Given the description of an element on the screen output the (x, y) to click on. 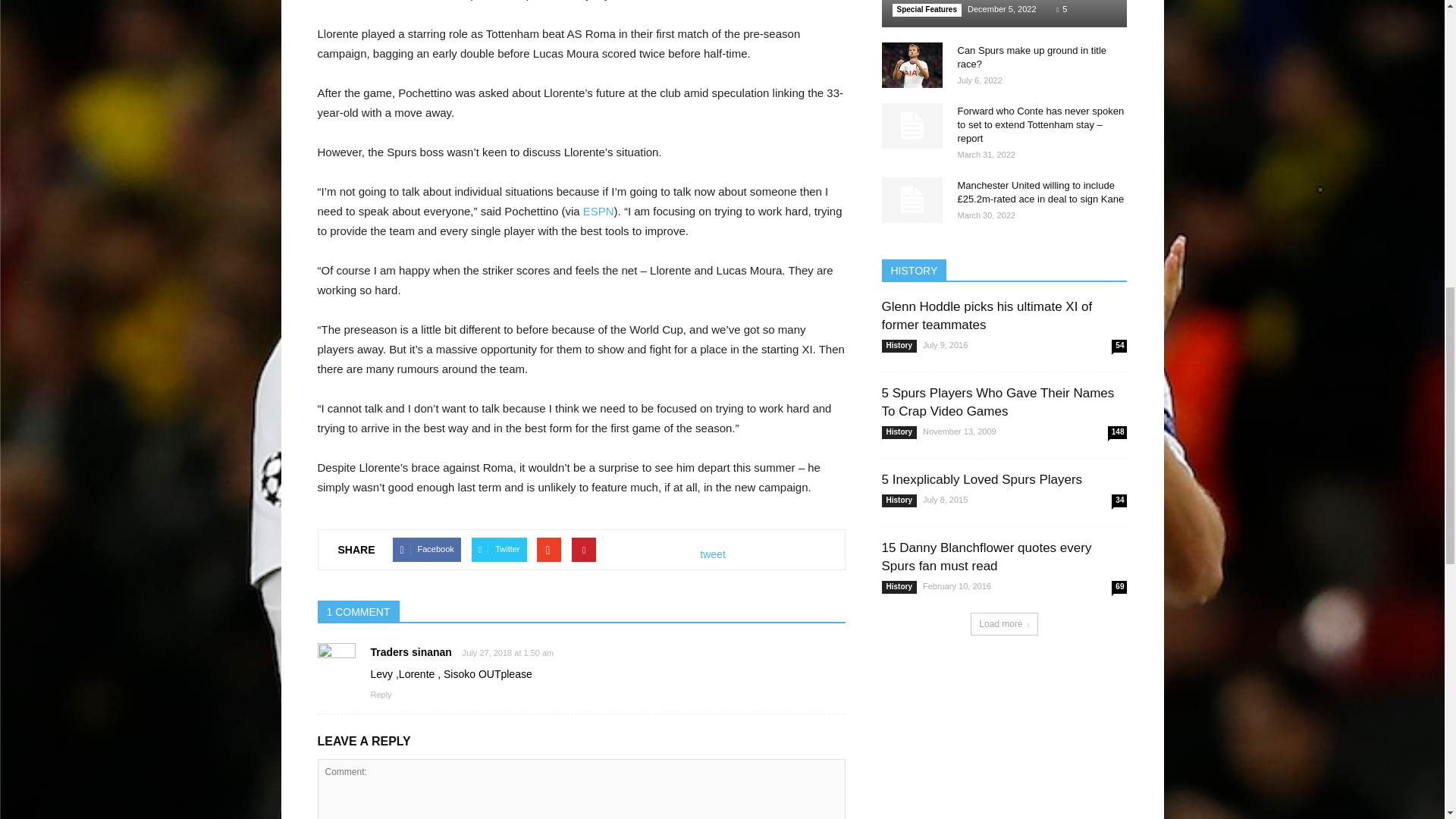
Will Son shine at the 2022 World Cup? (1003, 13)
5 Inexplicably Loved Spurs Players (980, 479)
Glenn Hoddle picks his ultimate XI of former teammates (986, 315)
Can Spurs make up ground in title race? (1031, 57)
5 Spurs Players Who Gave Their Names To Crap Video Games (996, 401)
Can Spurs make up ground in title race? (911, 64)
